Given the description of an element on the screen output the (x, y) to click on. 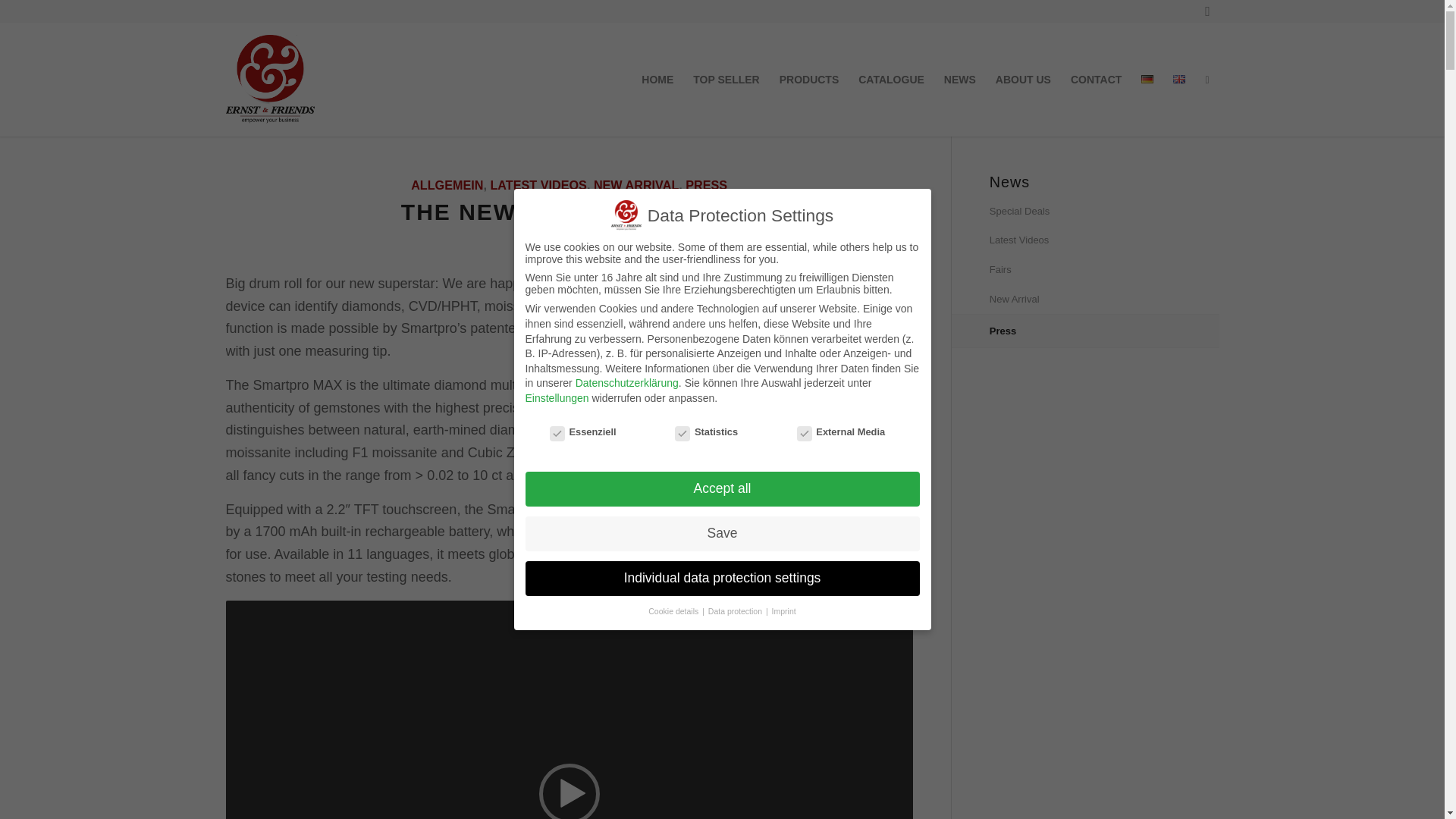
THE NEW SMART PRO MAX (569, 211)
Permanent Link: THE NEW SMART PRO MAX (569, 211)
ALLGEMEIN (446, 184)
Instagram (1208, 11)
NEW ARRIVAL (636, 184)
LATEST VIDEOS (537, 184)
PRESS (705, 184)
